Given the description of an element on the screen output the (x, y) to click on. 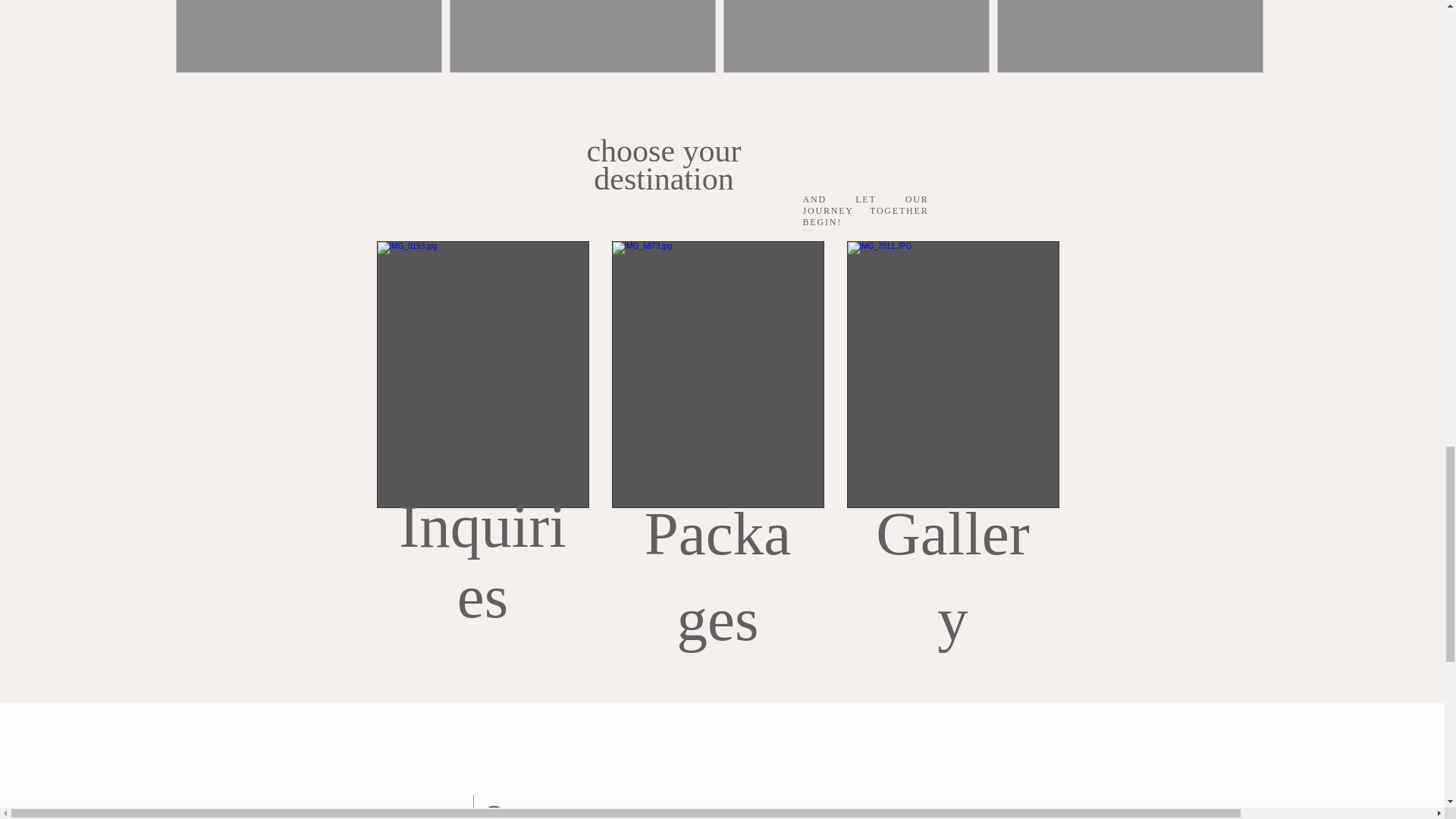
Gallery (952, 576)
Packages (717, 576)
Inquiries (482, 561)
